Given the description of an element on the screen output the (x, y) to click on. 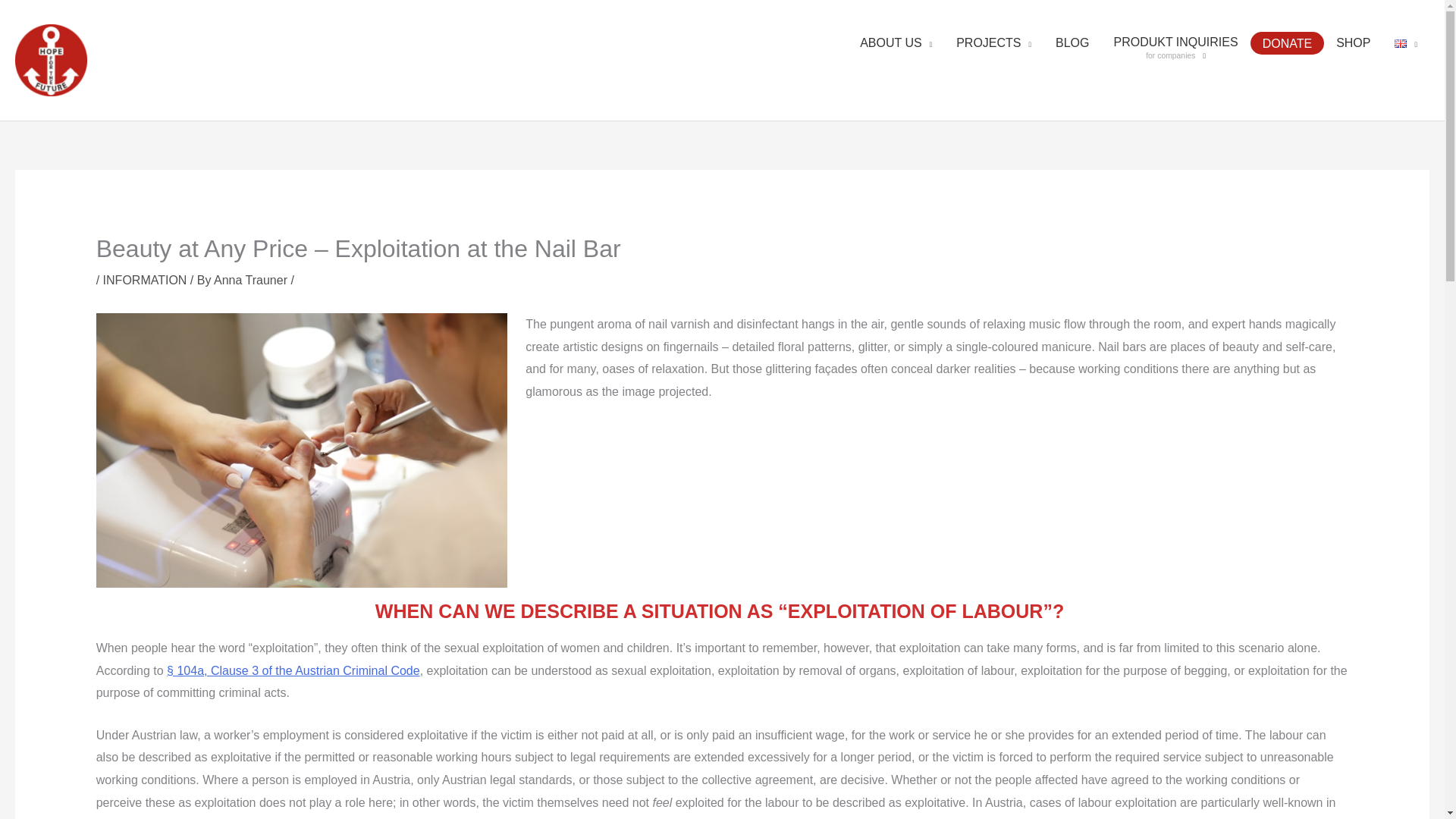
Anna Trauner (251, 279)
ABOUT US (895, 47)
INFORMATION (145, 279)
View all posts by Anna Trauner (251, 279)
DONATE (1286, 42)
BLOG (1071, 47)
SHOP (1174, 48)
PROJECTS (1352, 47)
